Given the description of an element on the screen output the (x, y) to click on. 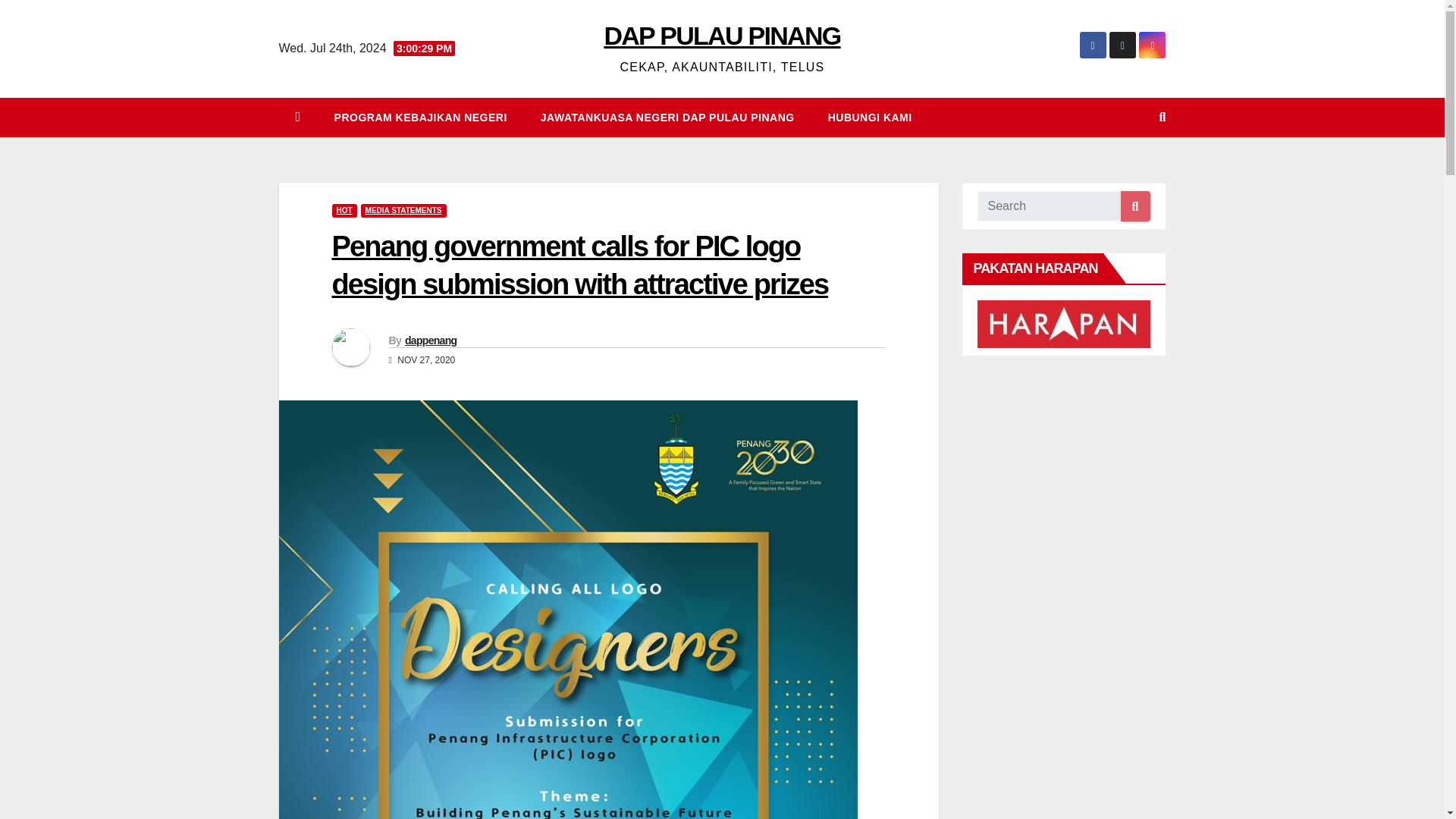
Hubungi Kami (869, 117)
HOT (343, 210)
Program Kebajikan Negeri (420, 117)
JAWATANKUASA NEGERI DAP PULAU PINANG (667, 117)
PROGRAM KEBAJIKAN NEGERI (420, 117)
Jawatankuasa Negeri DAP Pulau Pinang (667, 117)
DAP PULAU PINANG (722, 35)
dappenang (430, 340)
MEDIA STATEMENTS (403, 210)
HUBUNGI KAMI (869, 117)
